Given the description of an element on the screen output the (x, y) to click on. 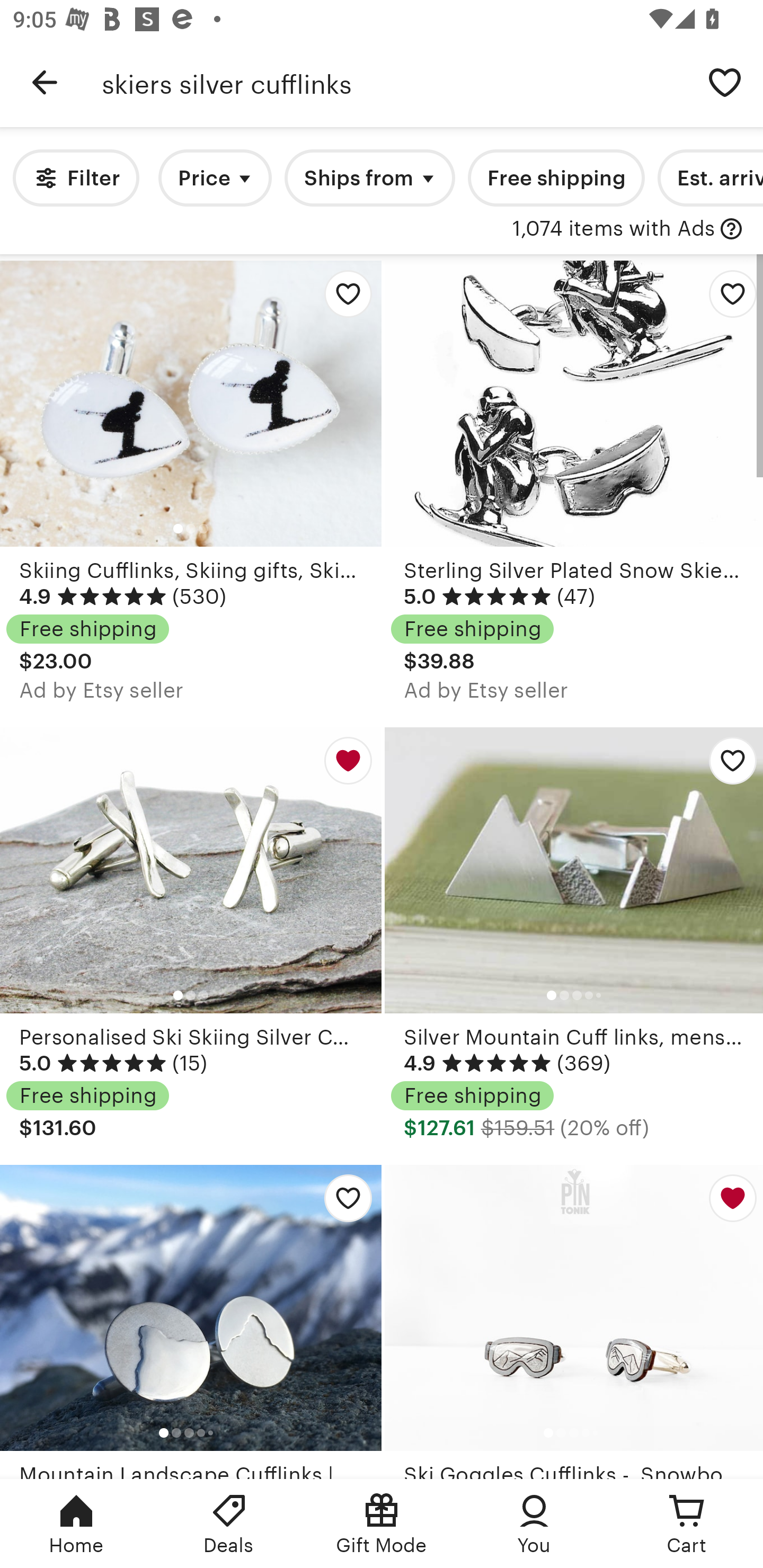
Navigate up (44, 82)
Save search (724, 81)
skiers silver cufflinks (393, 82)
Filter (75, 177)
Price (214, 177)
Ships from (369, 177)
Free shipping (555, 177)
1,074 items with Ads (613, 228)
with Ads (730, 228)
Deals (228, 1523)
Gift Mode (381, 1523)
You (533, 1523)
Cart (686, 1523)
